Given the description of an element on the screen output the (x, y) to click on. 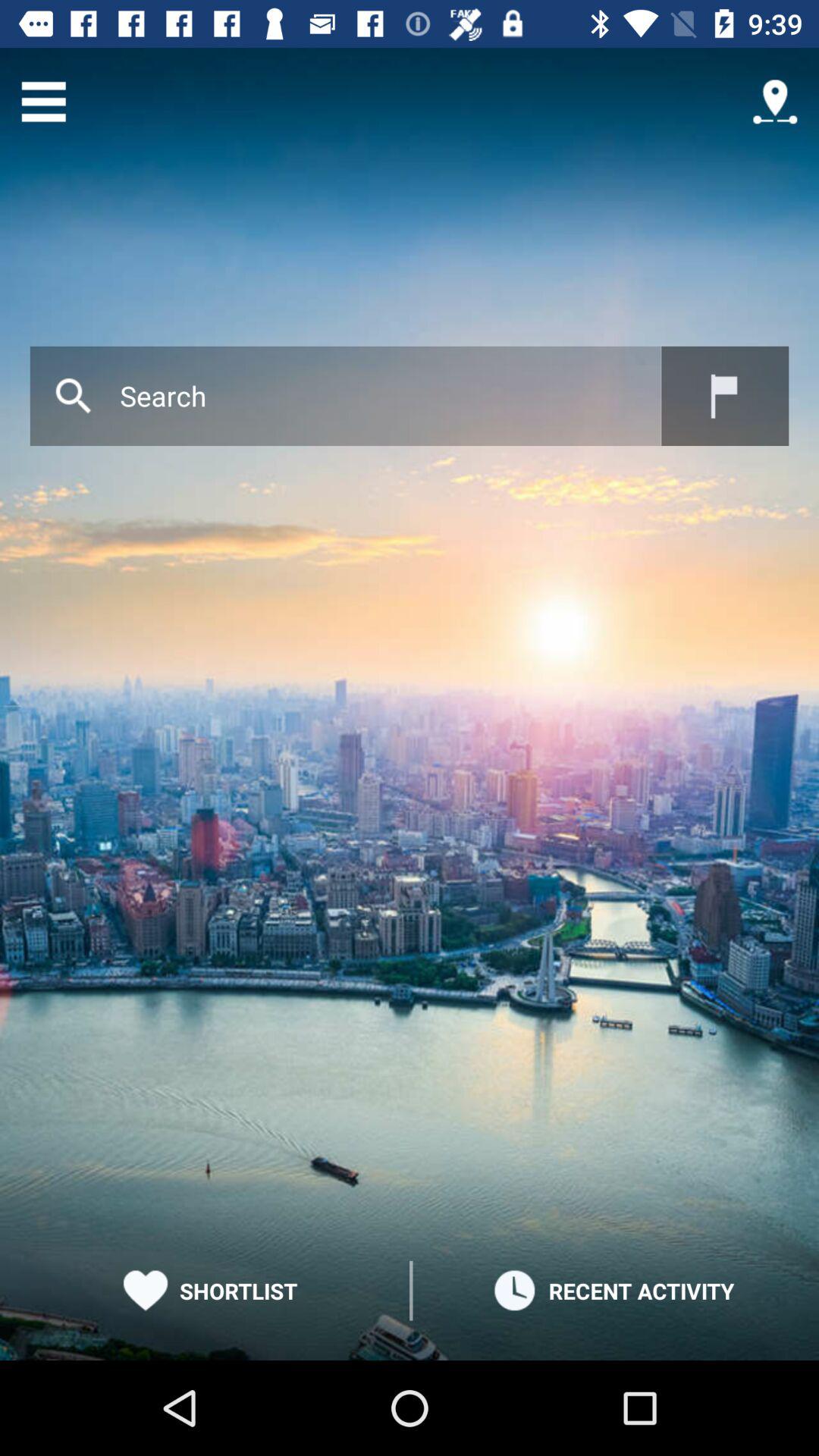
choose location (724, 395)
